Given the description of an element on the screen output the (x, y) to click on. 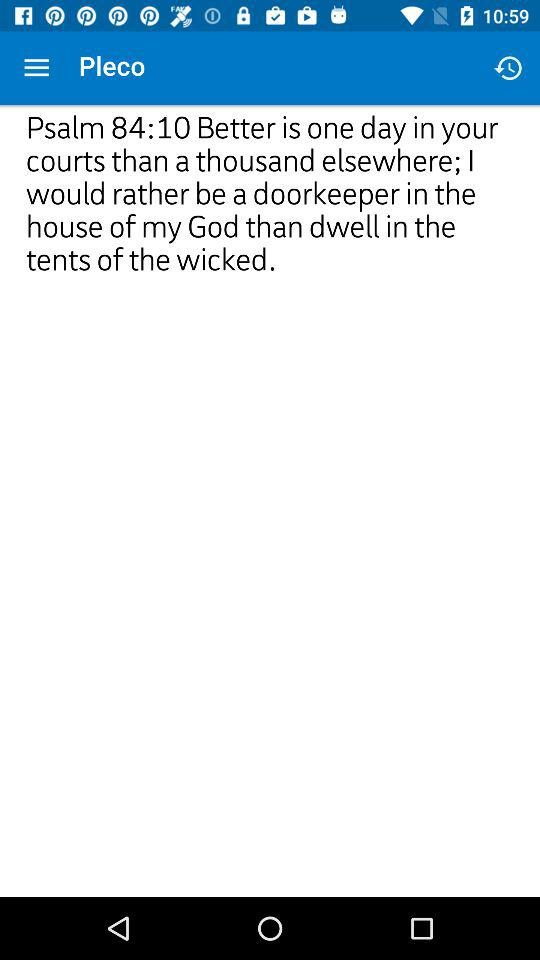
turn on icon above psalm 84 10 icon (36, 68)
